Given the description of an element on the screen output the (x, y) to click on. 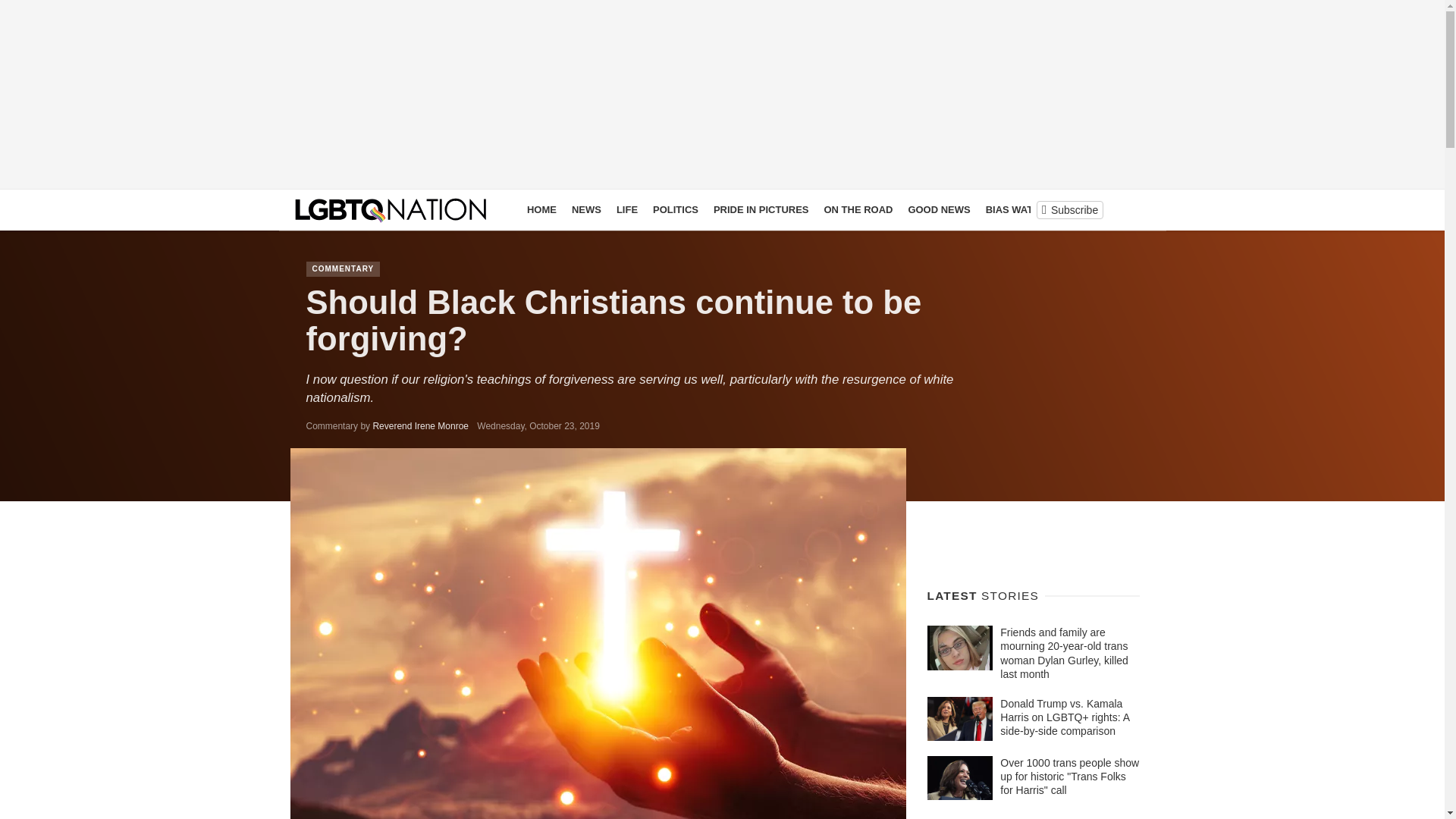
Subscribe (1069, 209)
NEWS (586, 209)
COMMENTARY (342, 268)
Wednesday, October 23, 2019 pm31 16:00:15 (537, 425)
LIFE (626, 209)
PRIDE IN PICTURES (761, 209)
COMMENTARY (1097, 209)
ON THE ROAD (857, 209)
BIAS WATCH (1016, 209)
